Given the description of an element on the screen output the (x, y) to click on. 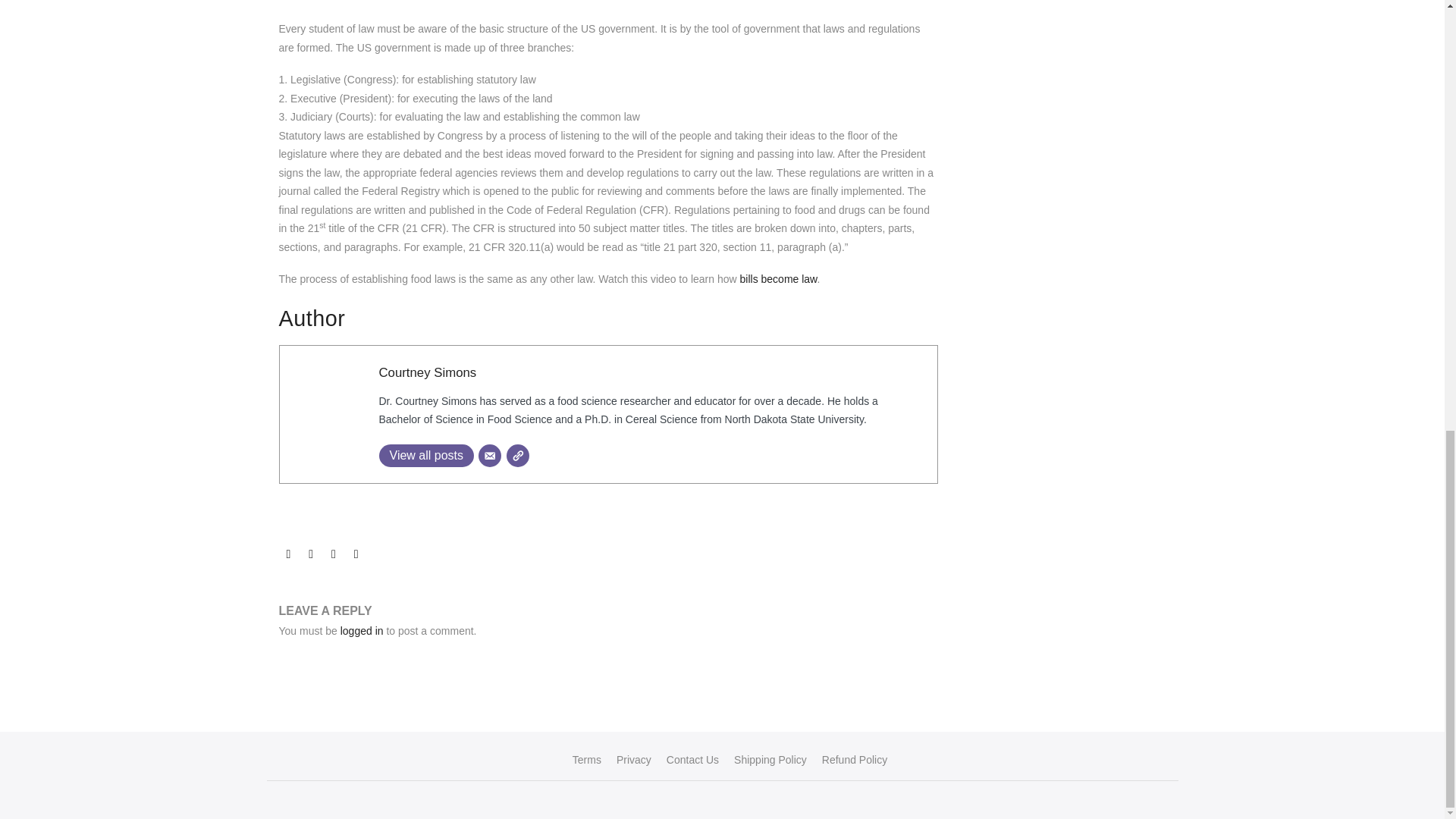
Courtney Simons (427, 372)
bills become law (777, 278)
Courtney Simons (427, 372)
View all posts (426, 455)
